Given the description of an element on the screen output the (x, y) to click on. 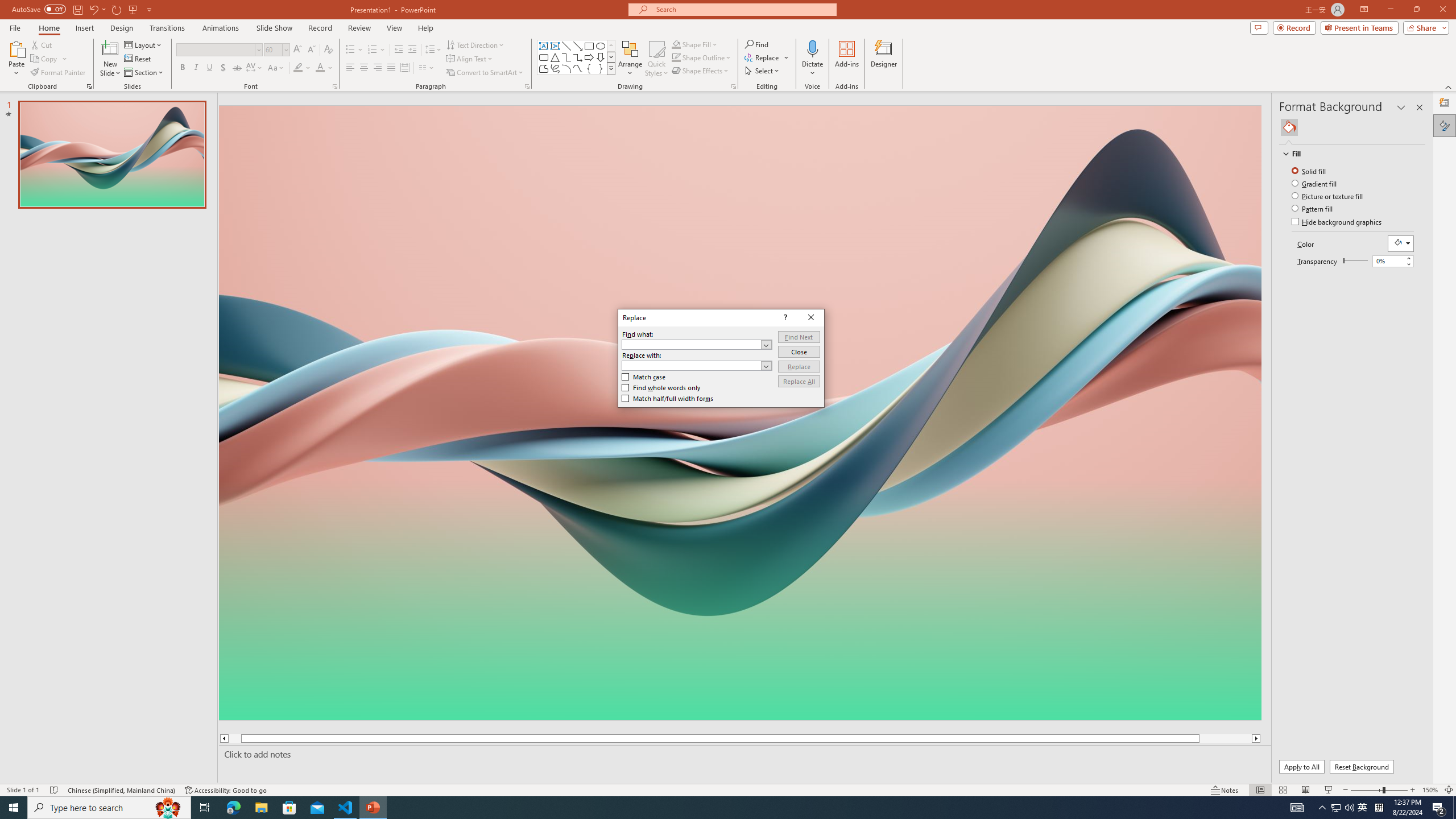
Transparency (1393, 260)
Find whole words only (661, 387)
Replace All (799, 381)
Find Next (799, 336)
